Given the description of an element on the screen output the (x, y) to click on. 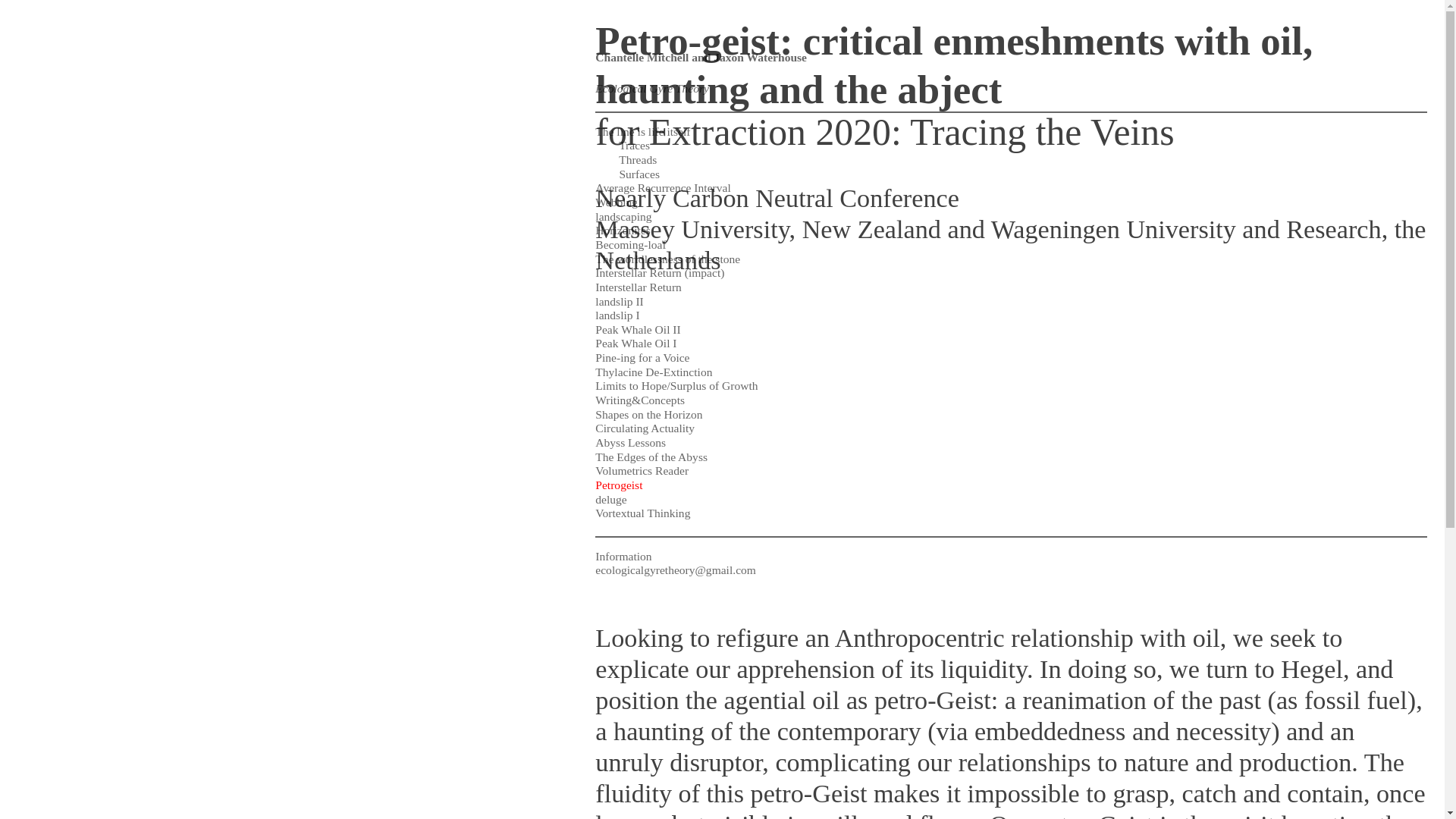
Interstellar Return (638, 286)
Chantelle Mitchell and Jaxon Waterhouse (700, 52)
deluge (610, 499)
Ecological Gyre Theory (652, 88)
Pine-ing for a Voice (641, 357)
Thylacine De-Extinction (653, 371)
Becoming-loaf (630, 244)
Abyss Lessons (630, 441)
worldlessness of the stone (677, 258)
Traces (633, 144)
